Given the description of an element on the screen output the (x, y) to click on. 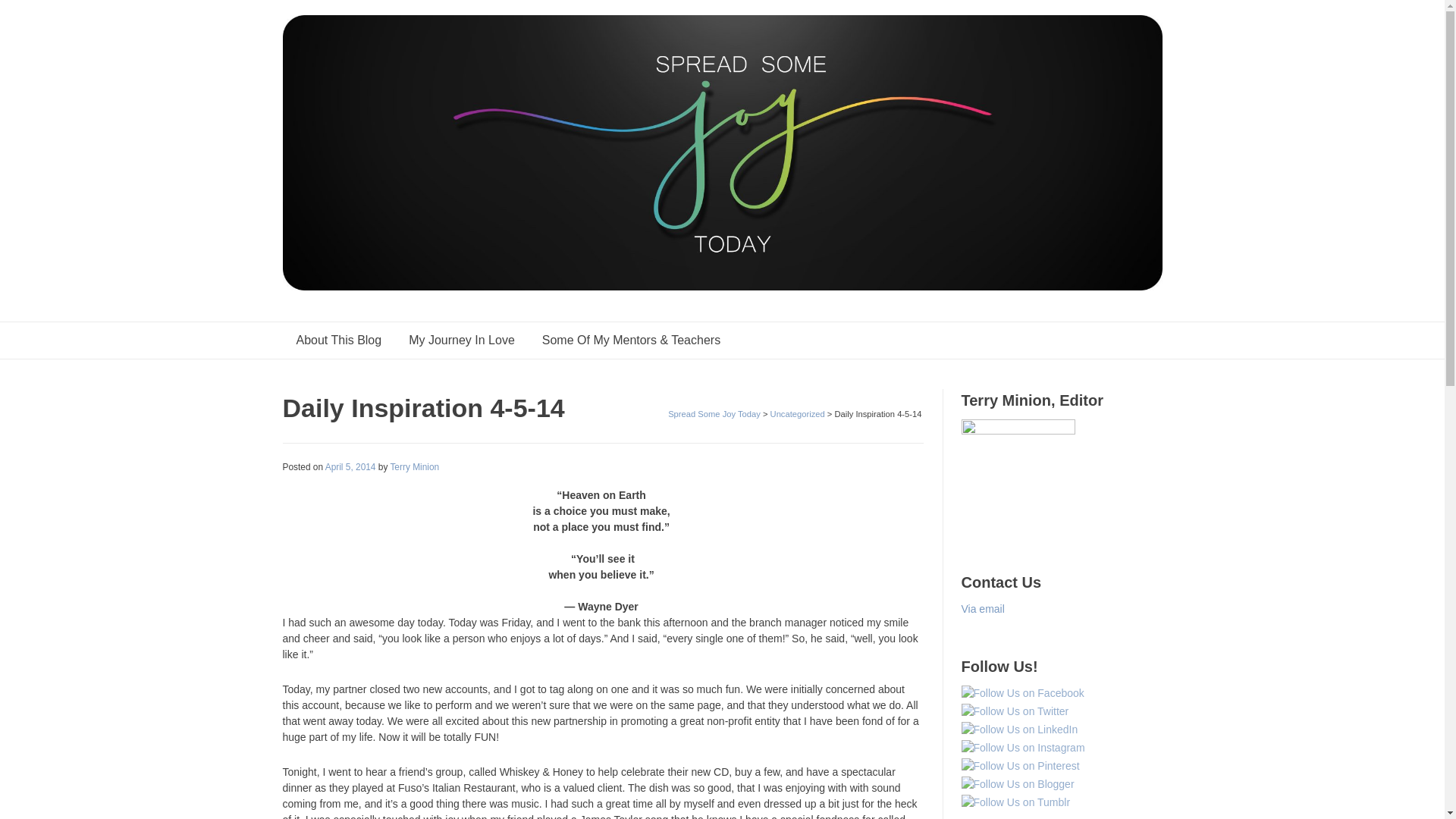
Go to the Uncategorized Category archives. (797, 413)
Follow Us on Facebook (1022, 693)
Follow Us on LinkedIn (1019, 729)
Via email (982, 607)
Follow Us on Twitter (1014, 711)
My Journey In Love (461, 339)
Follow Us on Blogger (1017, 784)
Follow Us on Pinterest (1020, 765)
Go to Spread Some Joy Today. (714, 413)
Uncategorized (797, 413)
